Given the description of an element on the screen output the (x, y) to click on. 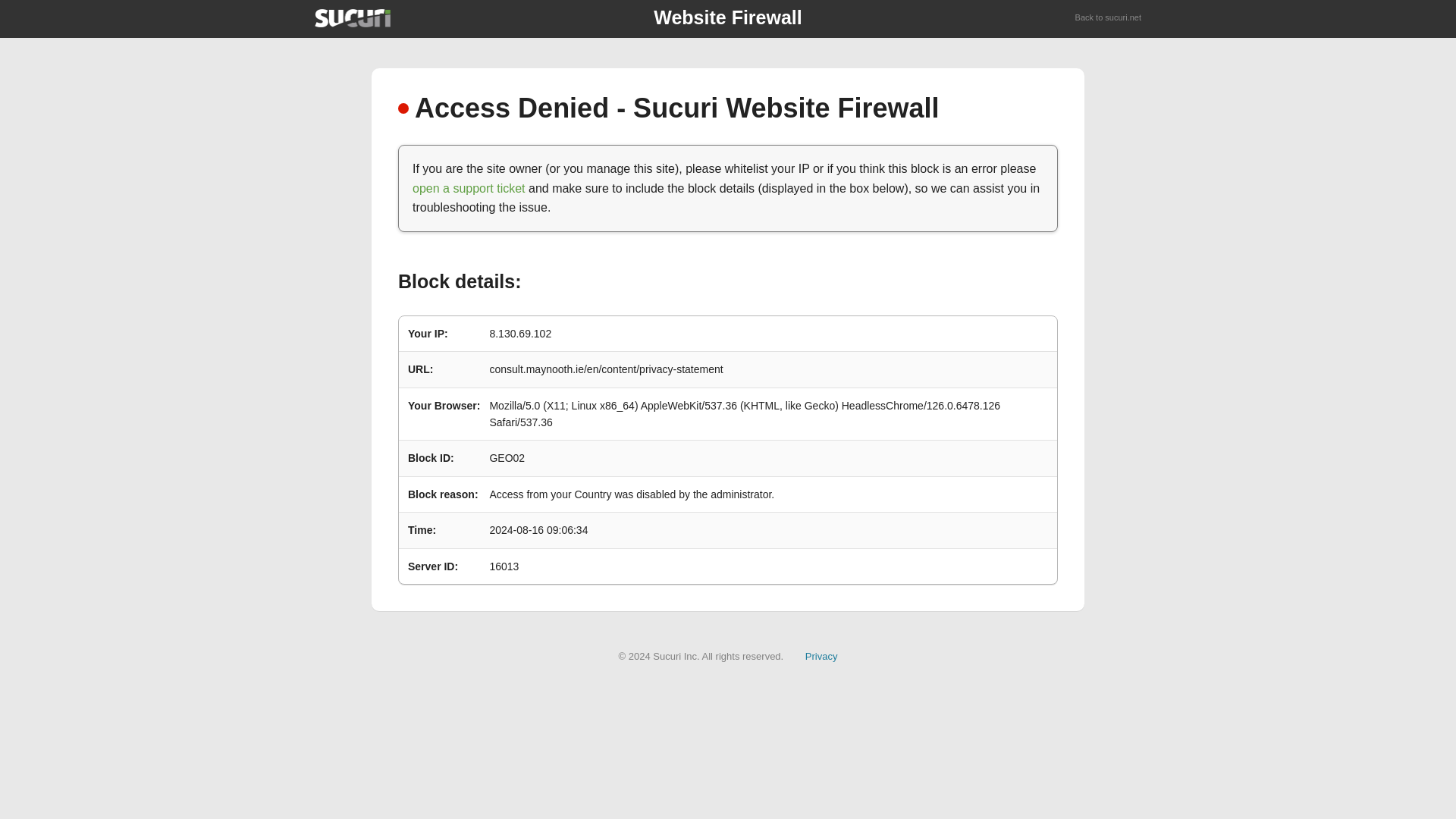
Privacy (821, 655)
Back to sucuri.net (1108, 18)
open a support ticket (468, 187)
